Given the description of an element on the screen output the (x, y) to click on. 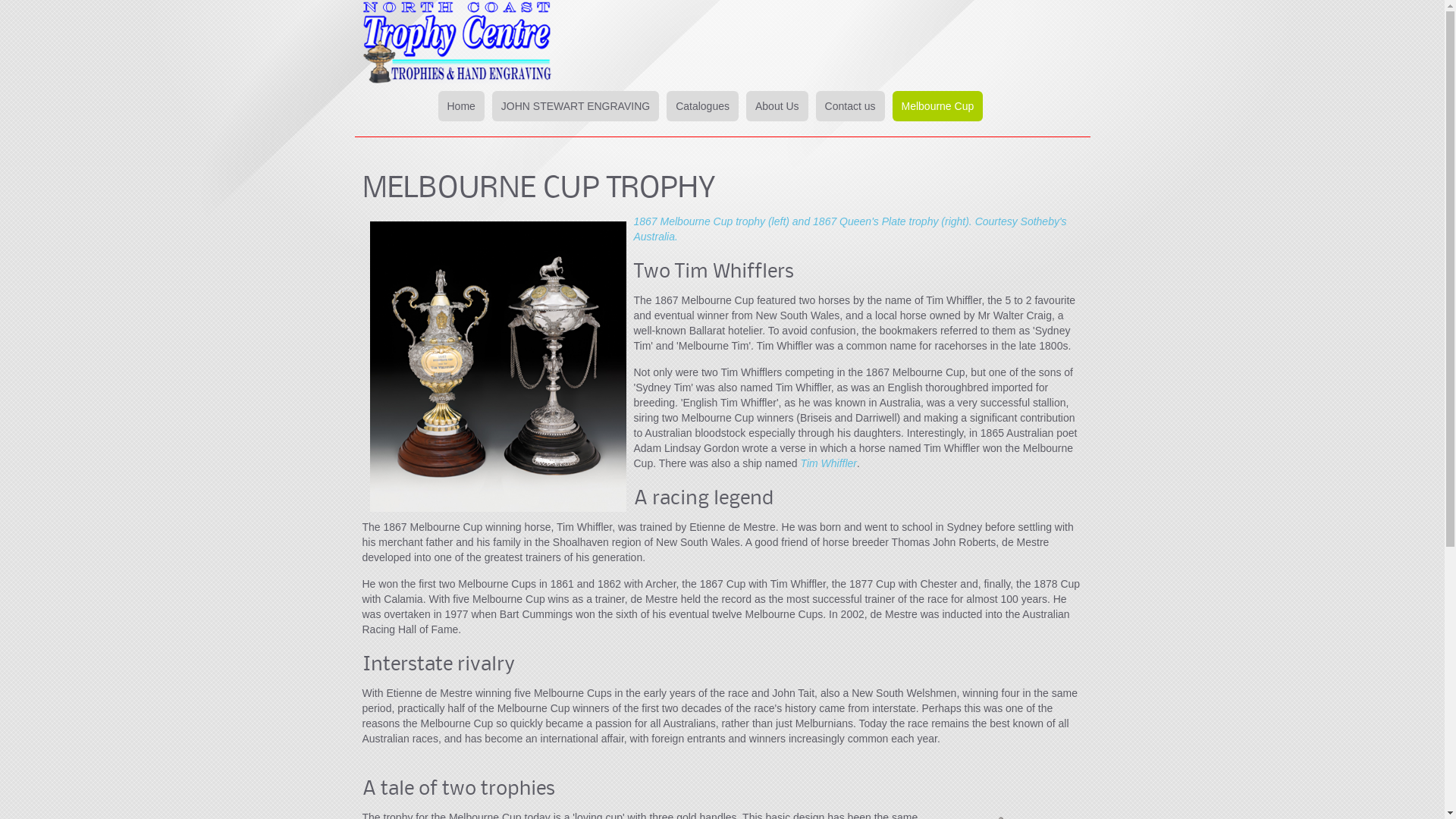
Contact us Element type: text (849, 106)
Melbourne Cup Element type: text (936, 106)
JOHN STEWART ENGRAVING Element type: text (575, 106)
About Us Element type: text (777, 106)
Catalogues Element type: text (702, 106)
Home Element type: text (461, 106)
